Given the description of an element on the screen output the (x, y) to click on. 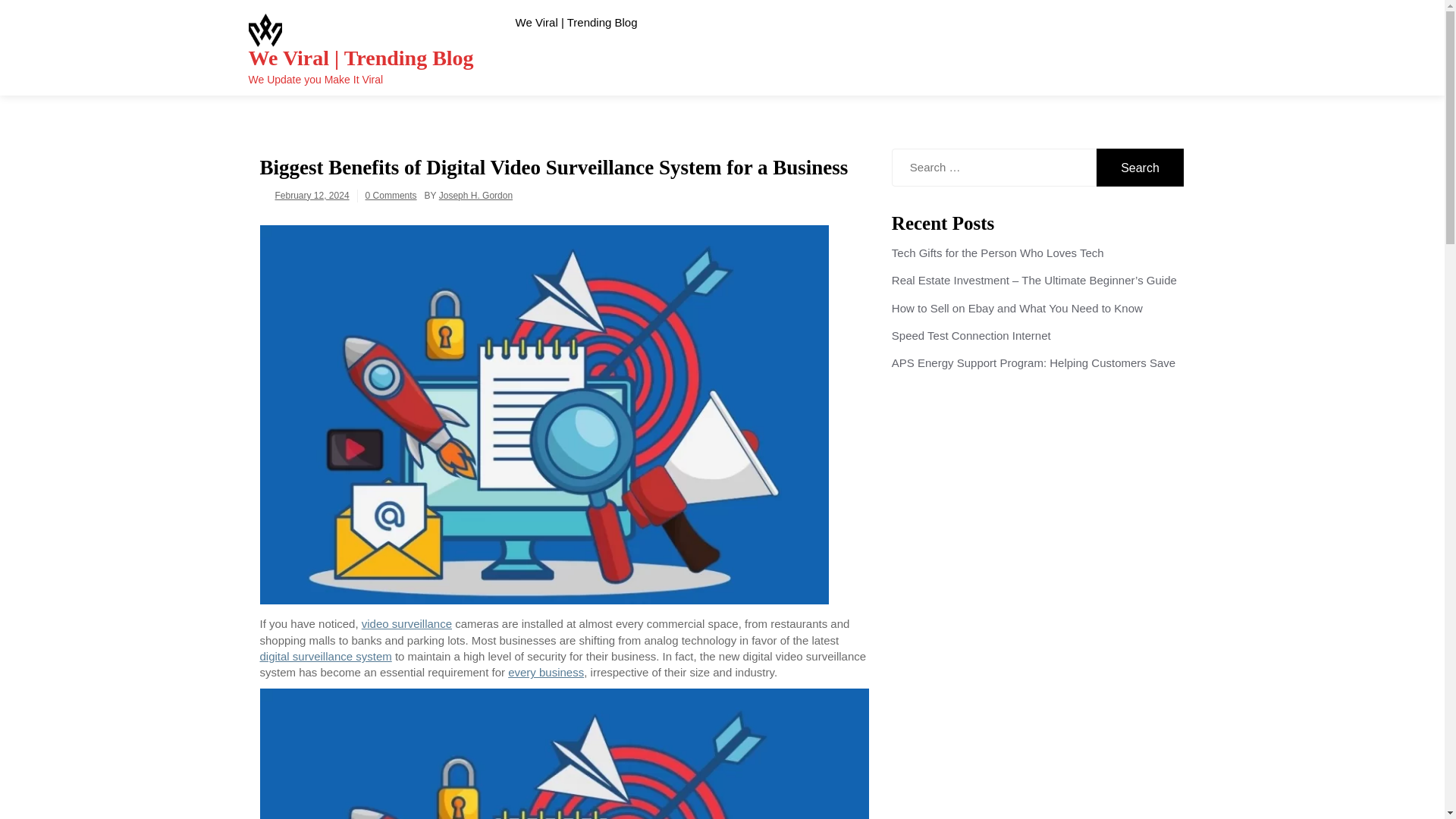
video surveillance (406, 623)
APS Energy Support Program: Helping Customers Save (1032, 362)
February 12, 2024 (312, 195)
Tech Gifts for the Person Who Loves Tech (997, 252)
Joseph H. Gordon (475, 195)
digital surveillance system (325, 656)
Speed Test Connection Internet (971, 335)
Search (1140, 167)
Search (1140, 167)
Search (1140, 167)
How to Sell on Ebay and What You Need to Know (1016, 308)
every business (545, 671)
0 Comments (390, 195)
